Given the description of an element on the screen output the (x, y) to click on. 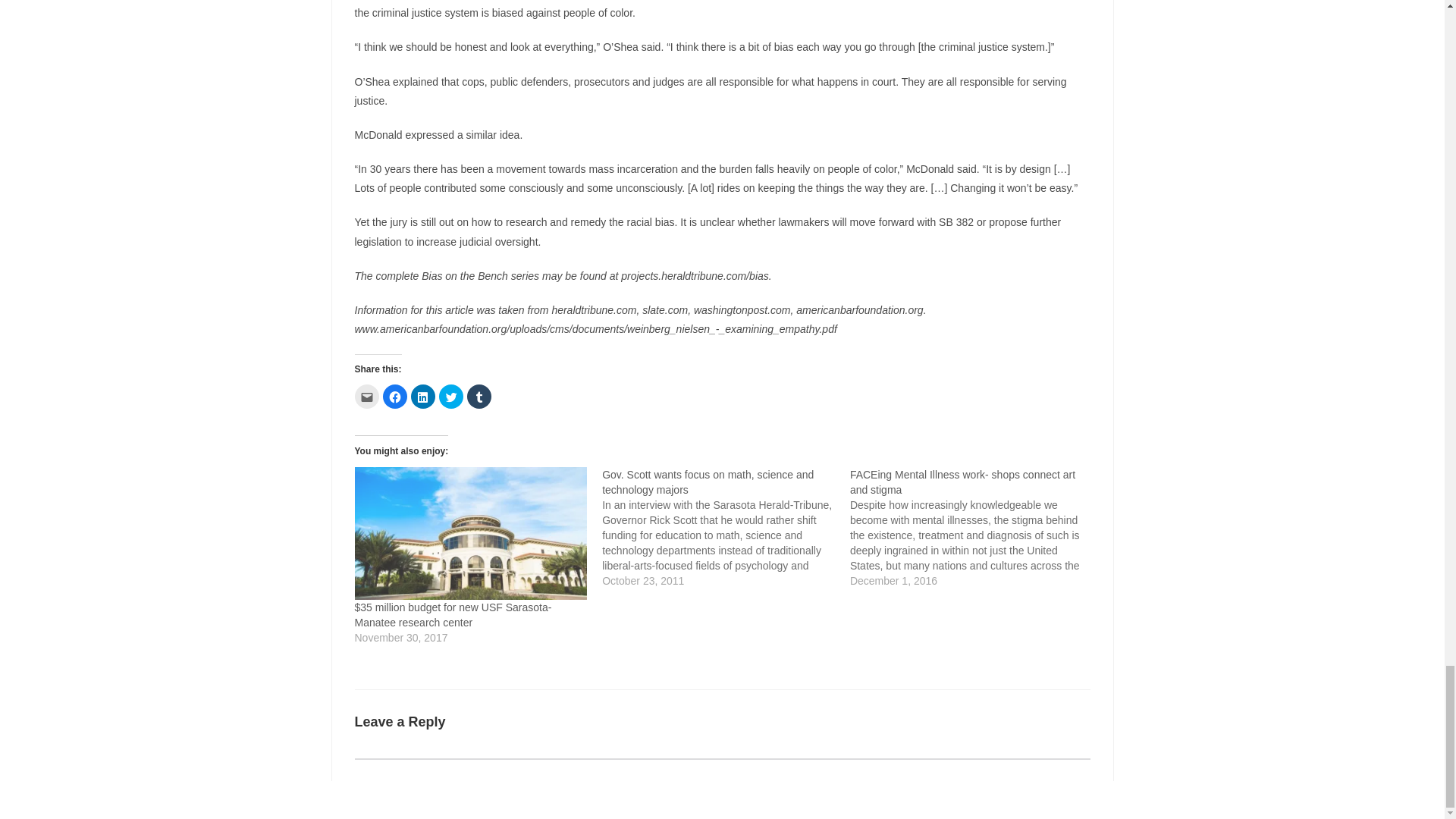
Click to email this to a friend (366, 396)
FACEing Mental Illness work- shops connect art and stigma (962, 482)
FACEing Mental Illness work- shops connect art and stigma (973, 527)
Click to share on Facebook (393, 396)
Click to share on Twitter (450, 396)
Click to share on LinkedIn (422, 396)
Click to share on Tumblr (479, 396)
